Given the description of an element on the screen output the (x, y) to click on. 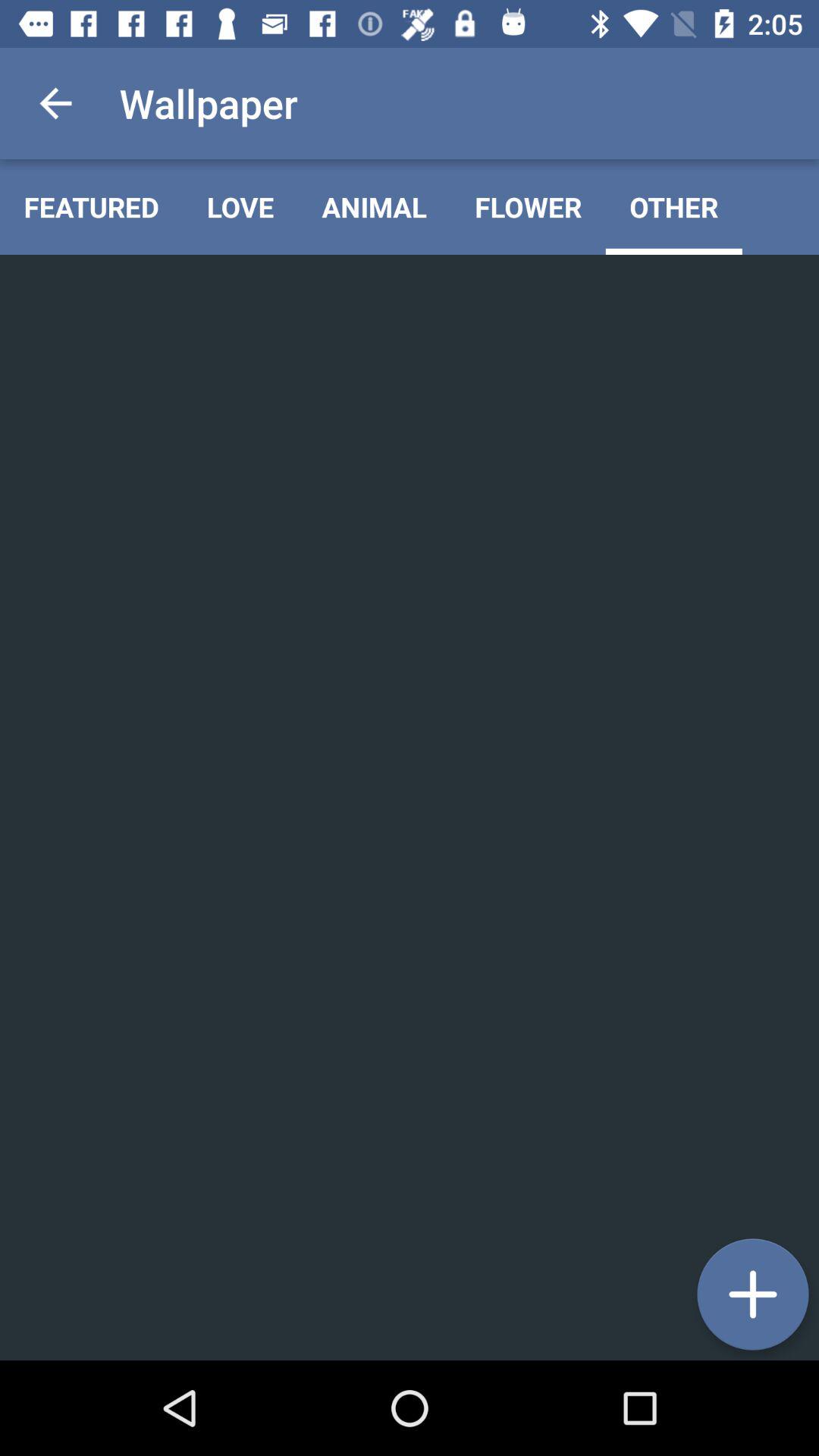
turn on other at the top right corner (673, 206)
